Given the description of an element on the screen output the (x, y) to click on. 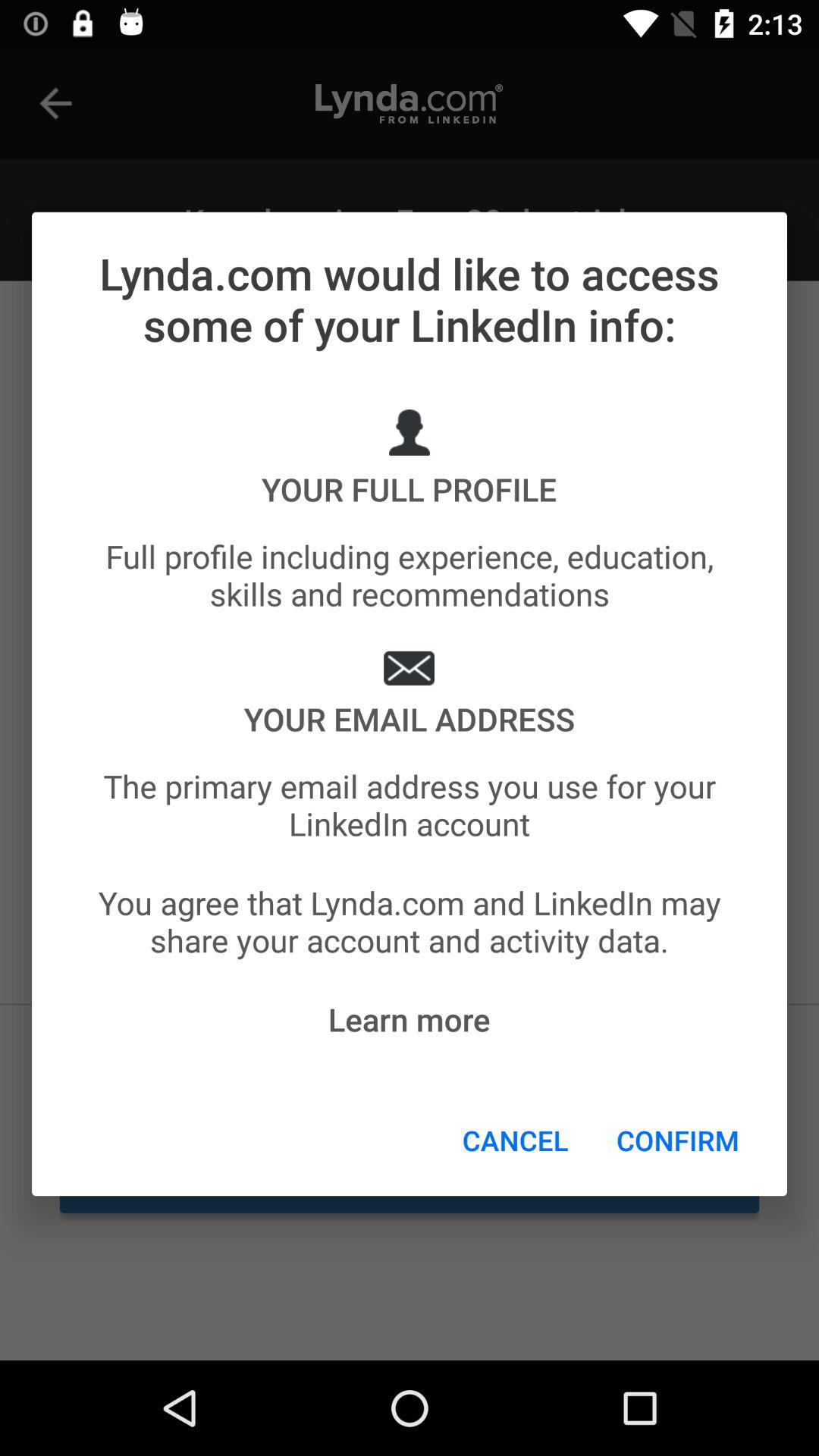
launch the item next to the cancel item (677, 1140)
